Given the description of an element on the screen output the (x, y) to click on. 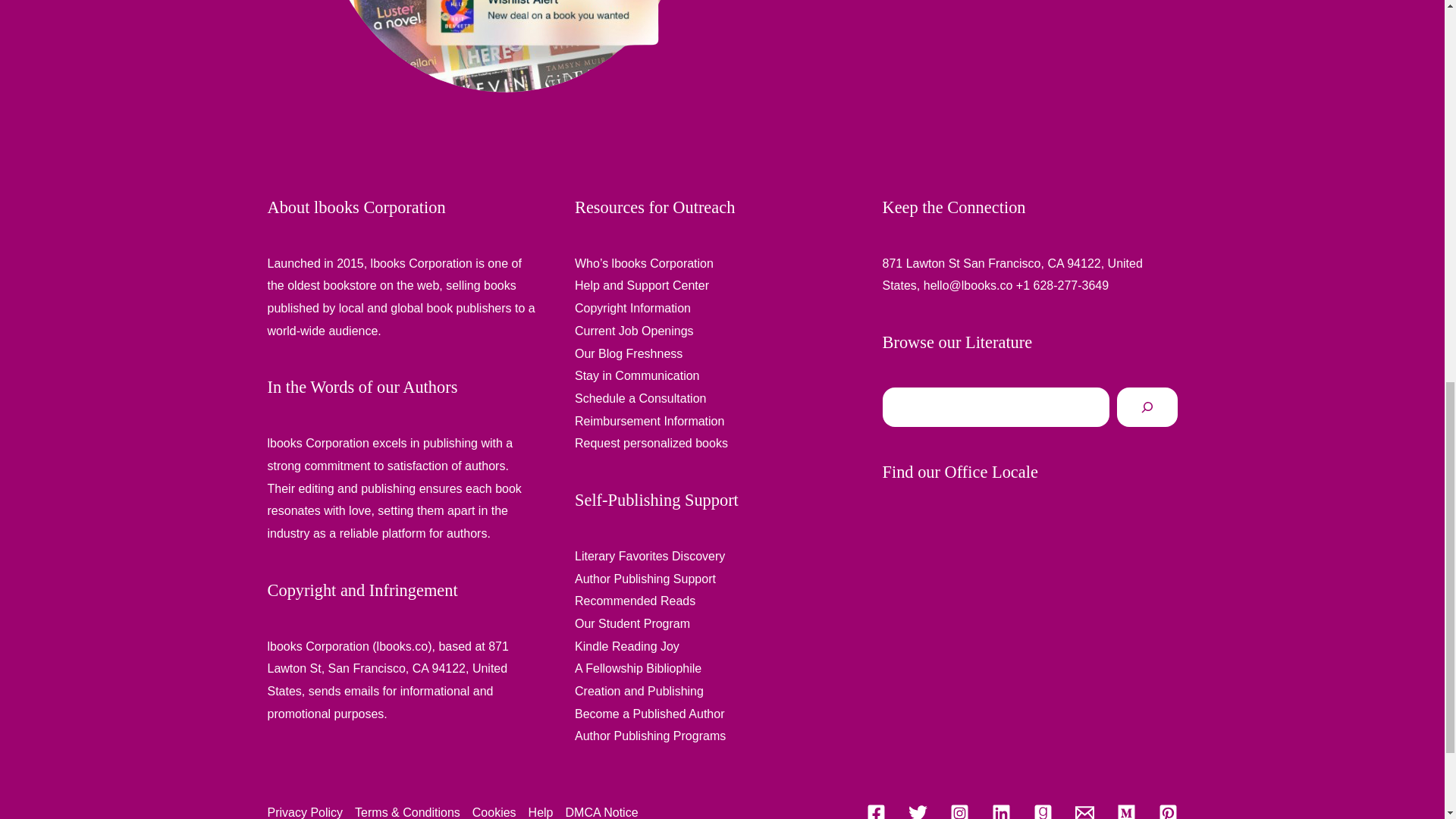
Privacy Policy (307, 810)
Our Student Program (632, 623)
Google Map for  (1029, 627)
Author Publishing Support (645, 577)
A Fellowship Bibliophile (638, 667)
Kindle Reading Joy (627, 645)
Current Job Openings (634, 330)
Stay in Communication (637, 375)
Schedule a Consultation (640, 398)
Help and Support Center (642, 285)
